Given the description of an element on the screen output the (x, y) to click on. 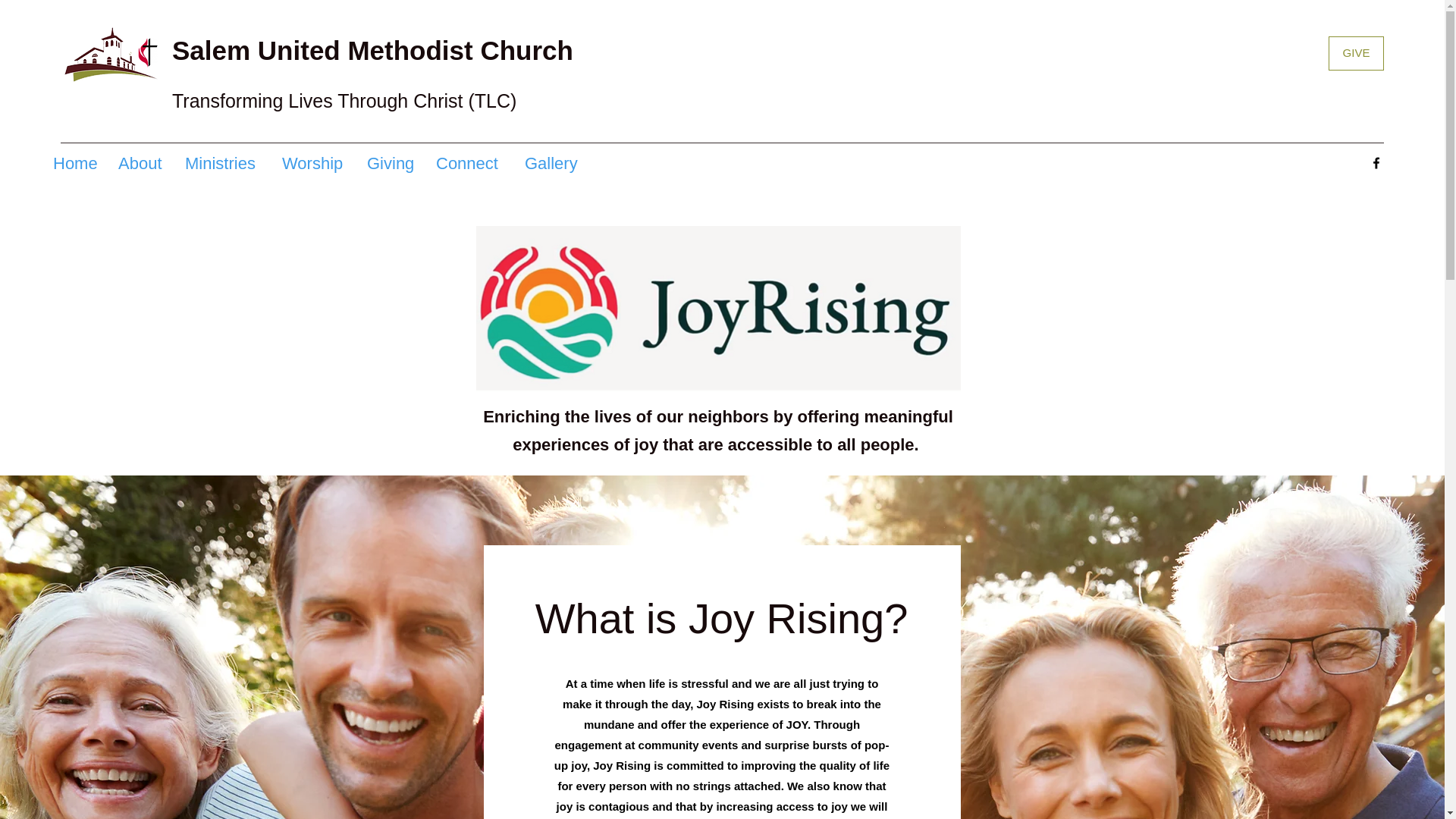
Home (77, 163)
Gallery (554, 163)
GIVE (1355, 53)
Worship (317, 163)
Salem United Methodist Church  (375, 50)
Giving (393, 163)
Connect (472, 163)
About (143, 163)
